Given the description of an element on the screen output the (x, y) to click on. 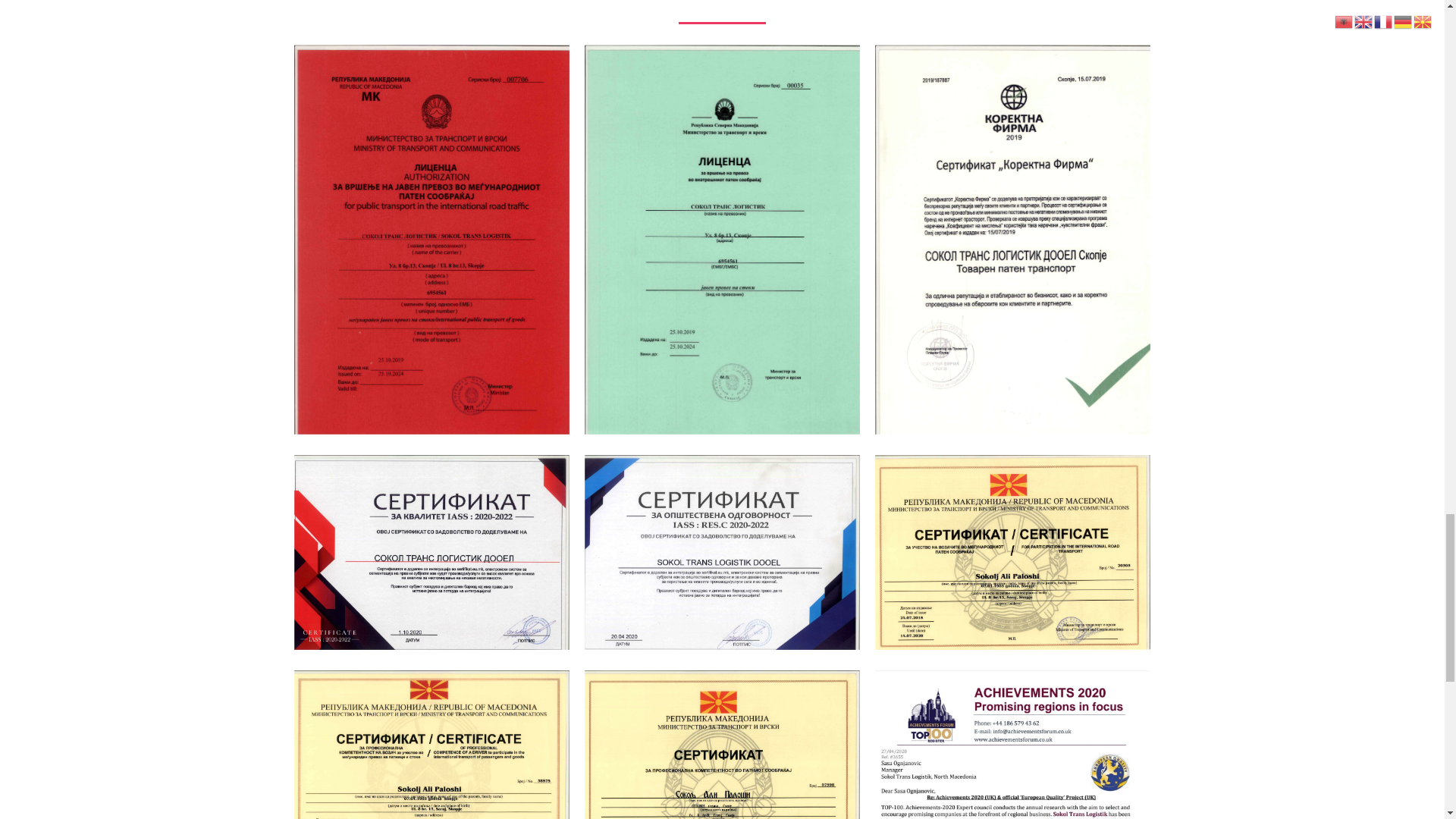
Certificat 8 (722, 552)
Certificat 6 (722, 744)
Certificat 4 (431, 744)
Certificat 3 (1012, 552)
Certificat 7 (431, 552)
